Given the description of an element on the screen output the (x, y) to click on. 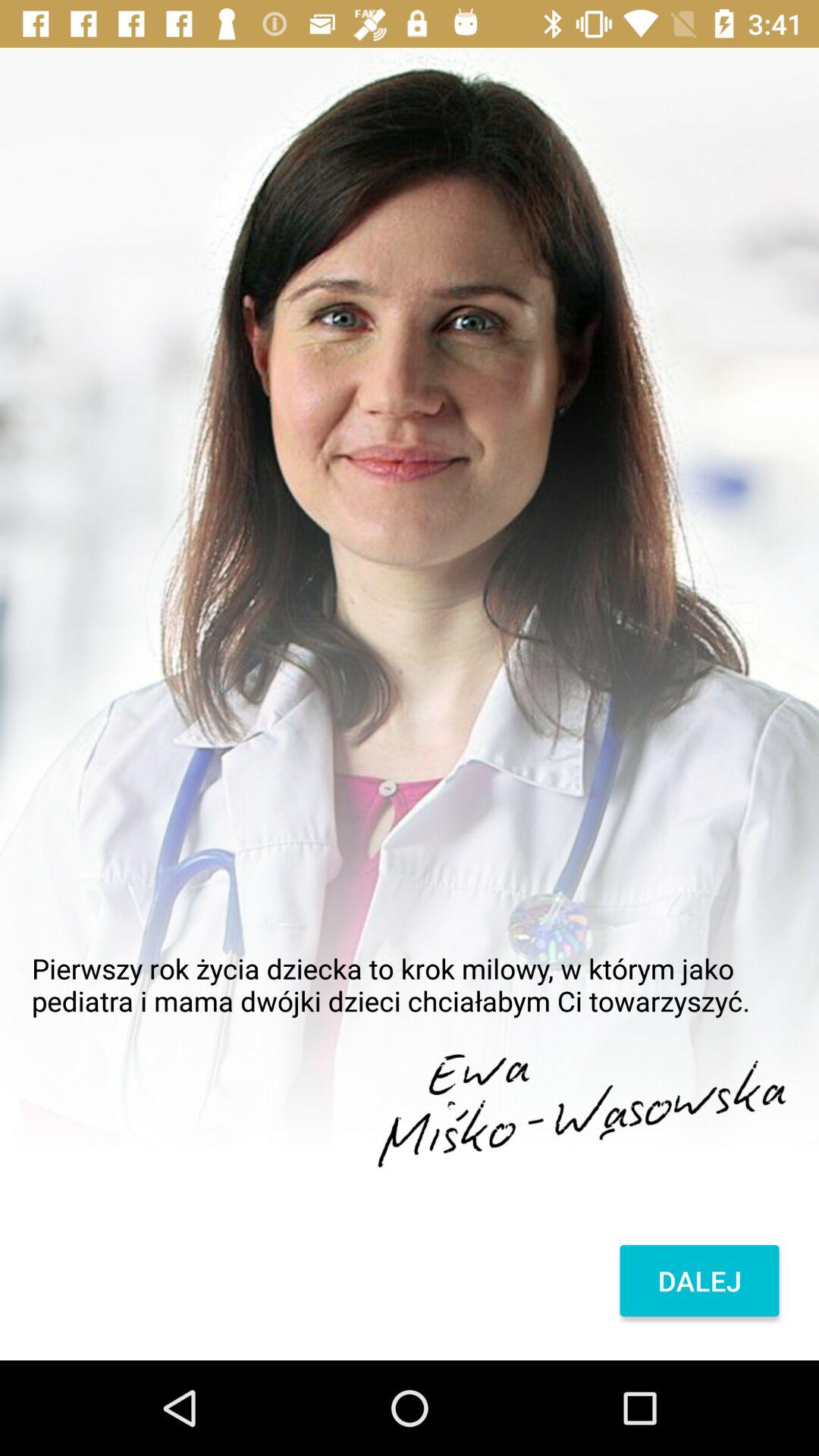
scroll until dalej icon (699, 1280)
